Given the description of an element on the screen output the (x, y) to click on. 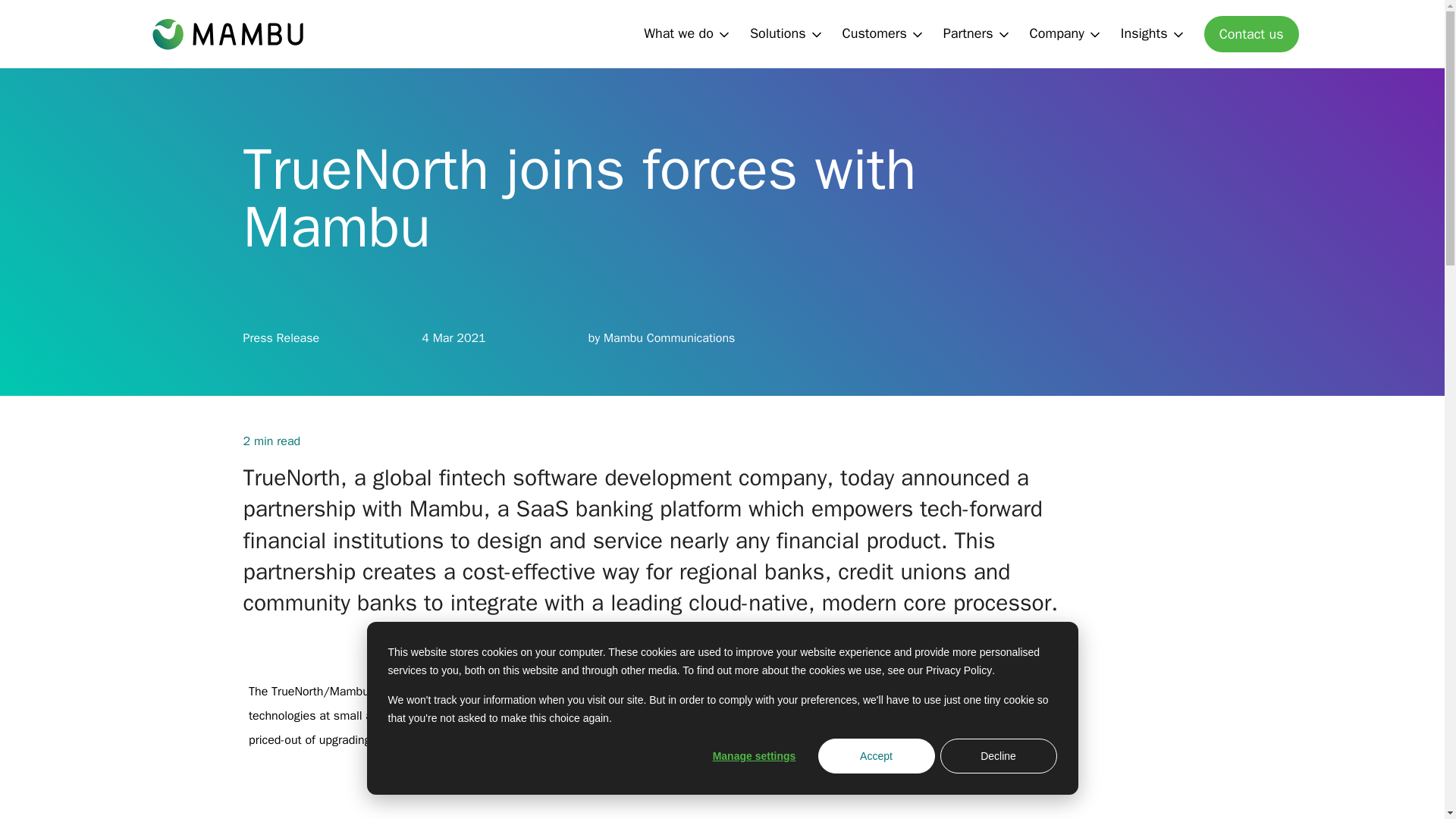
Solutions (786, 33)
Customers (883, 33)
What we do (687, 33)
Contact us (1251, 33)
Insights (1153, 33)
Company (1065, 33)
Partners (977, 33)
